Given the description of an element on the screen output the (x, y) to click on. 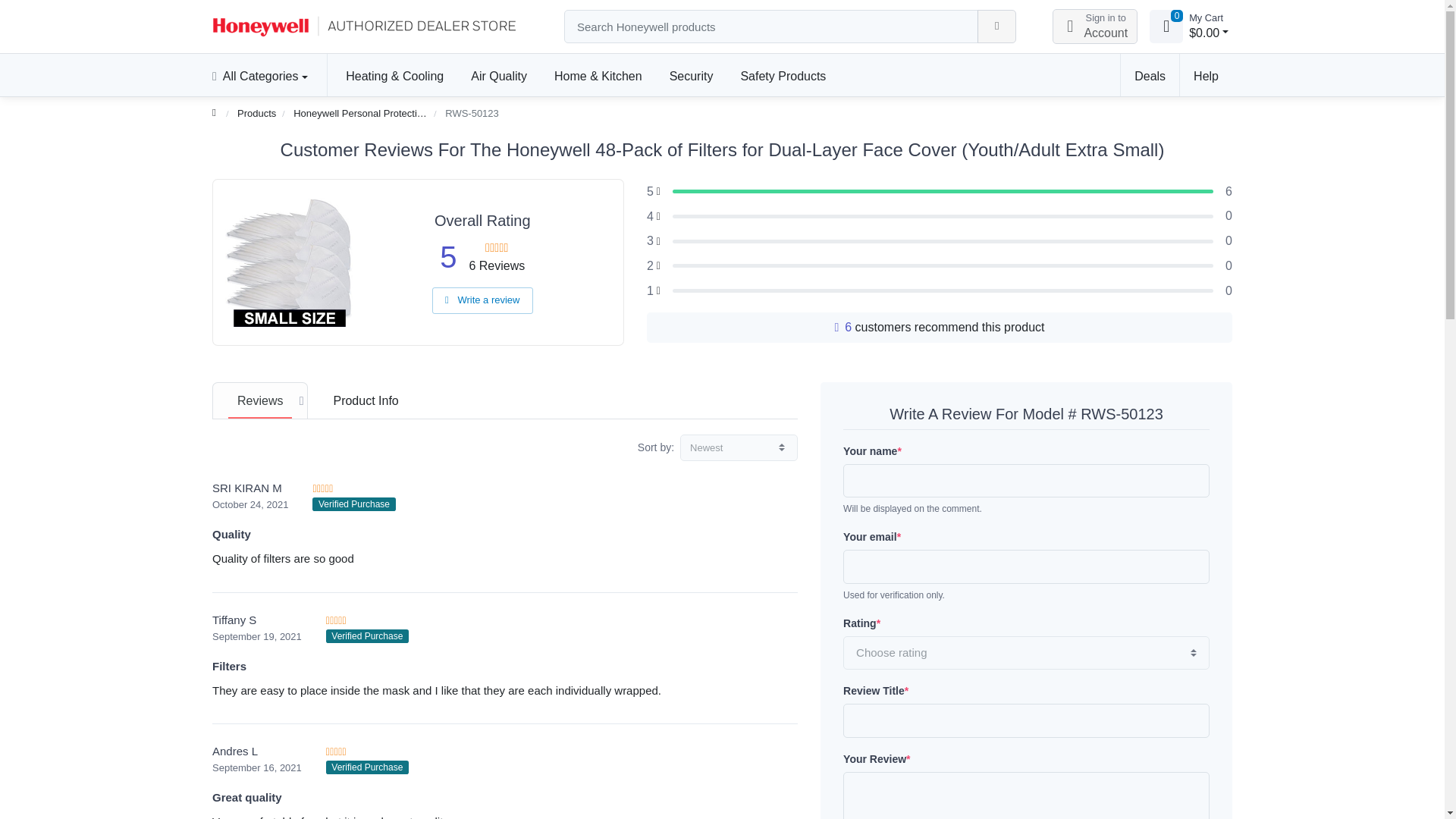
0 (1166, 26)
All Categories (266, 75)
